Given the description of an element on the screen output the (x, y) to click on. 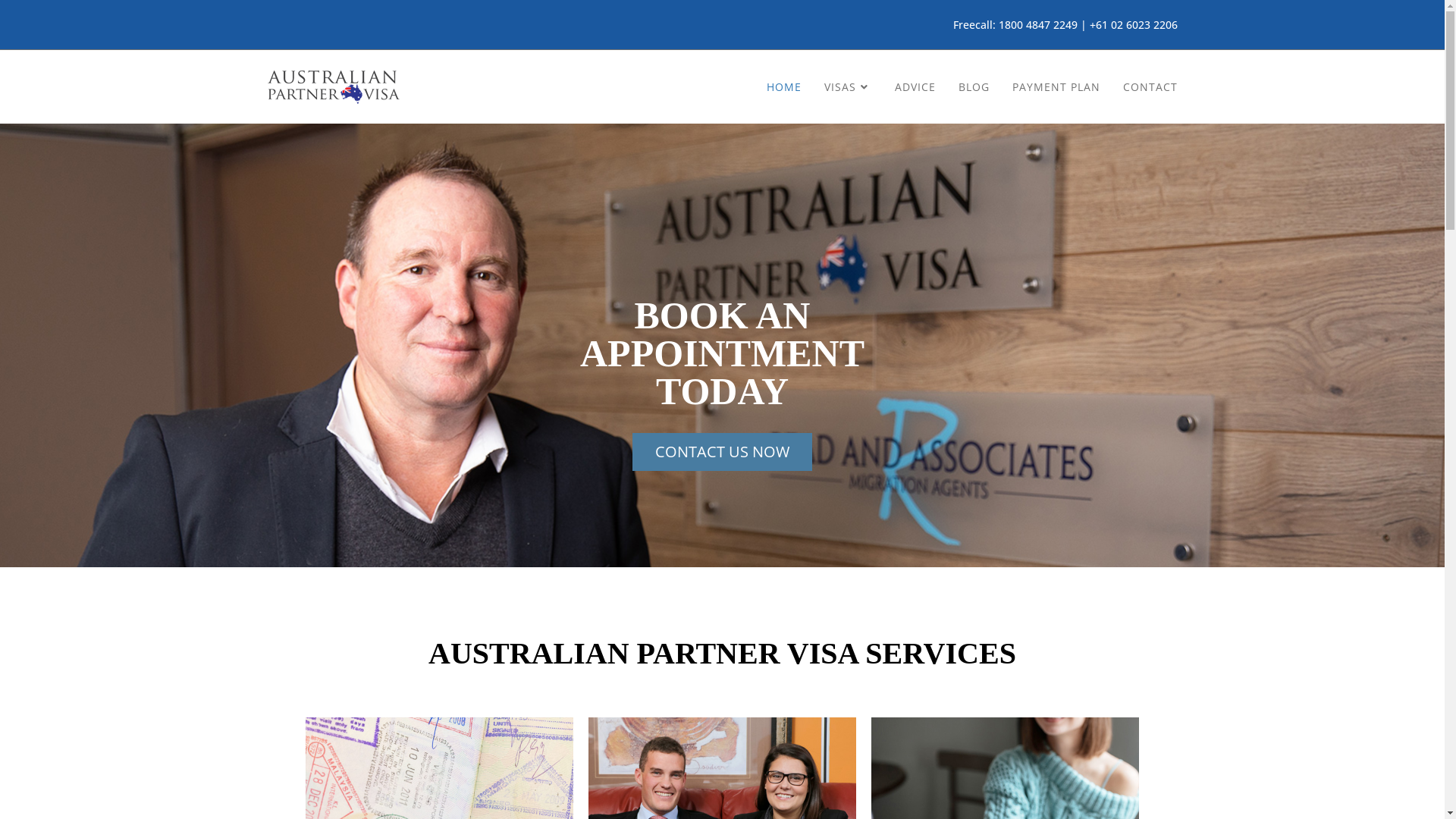
CONTACT US NOW Element type: text (722, 451)
CONTACT Element type: text (1150, 86)
+61 02 6023 2206 Element type: text (1132, 24)
BLOG Element type: text (973, 86)
1800 4847 2249 Element type: text (1036, 24)
HOME Element type: text (783, 86)
ADVICE Element type: text (914, 86)
VISAS Element type: text (847, 86)
PAYMENT PLAN Element type: text (1056, 86)
